Given the description of an element on the screen output the (x, y) to click on. 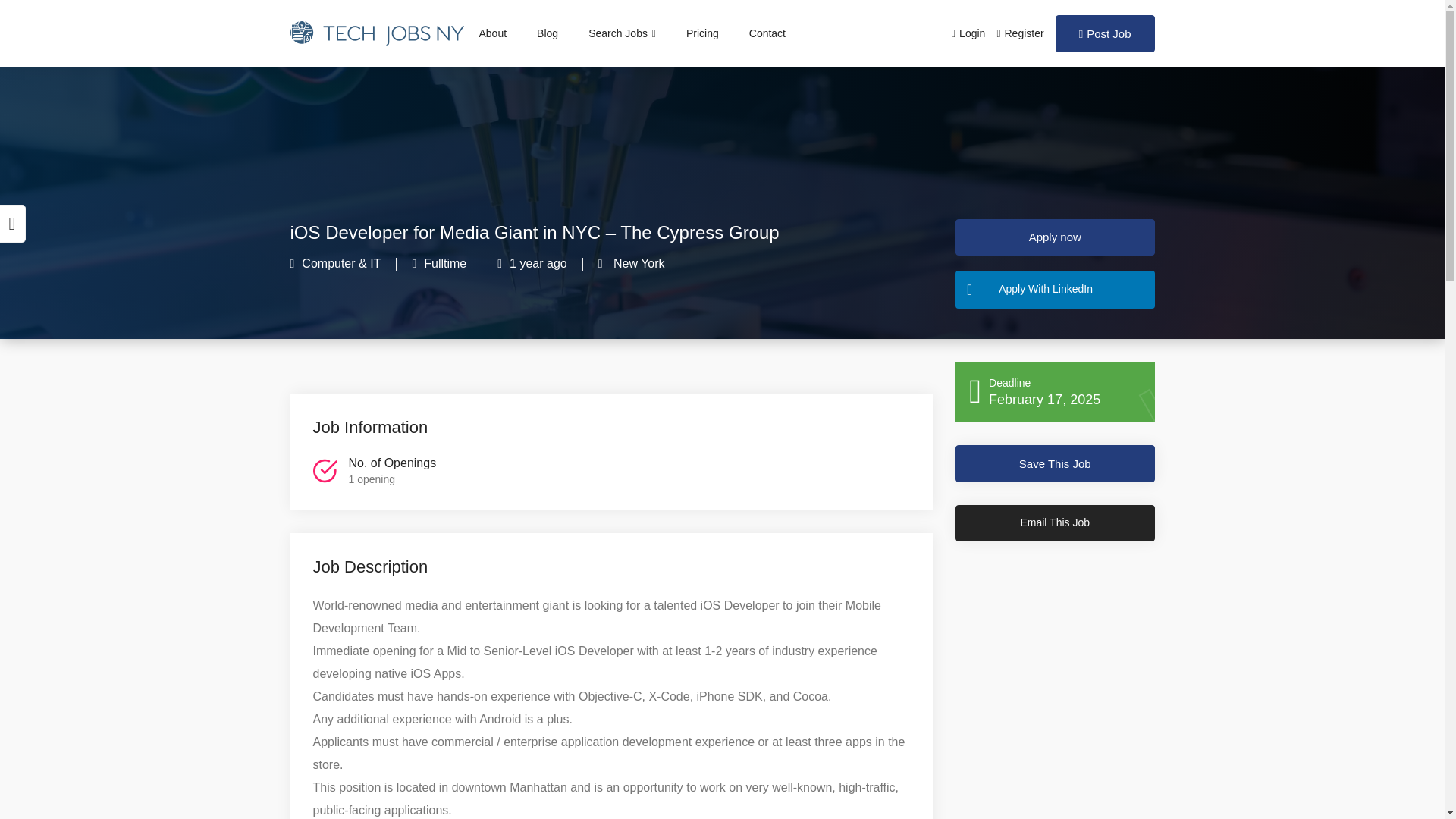
Blog (547, 33)
Apply now (1054, 236)
Contact (766, 33)
Pricing (702, 33)
About (493, 33)
New York (637, 263)
Register (1019, 33)
Search Jobs (622, 33)
Apply With LinkedIn (1054, 289)
Login (968, 33)
Post Job (1104, 33)
